Given the description of an element on the screen output the (x, y) to click on. 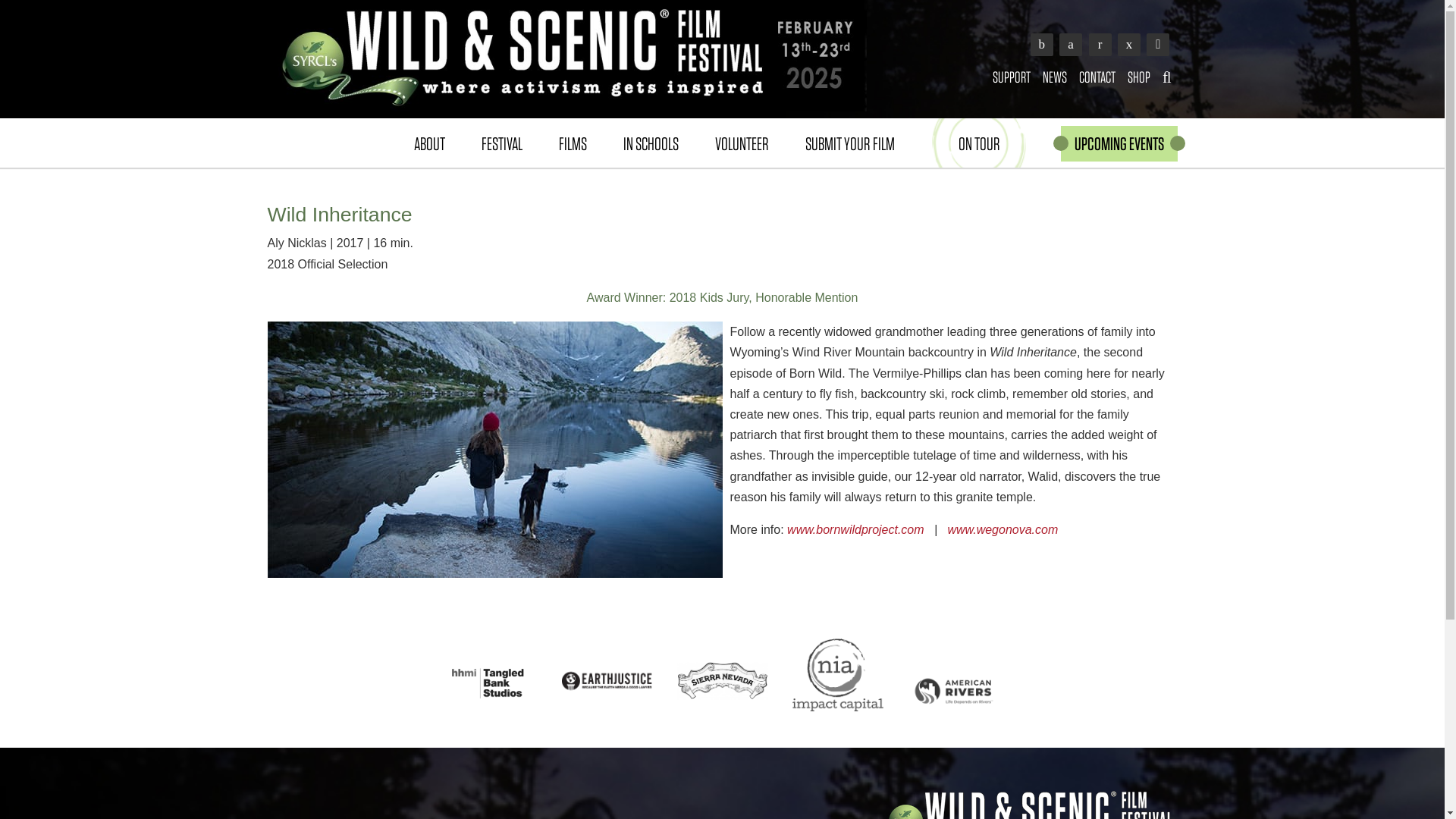
www.bornwildproject.com (854, 529)
www.wegonova.com (1002, 529)
SUBMIT YOUR FILM (849, 142)
NEWS (1054, 76)
FESTIVAL (501, 142)
SHOP (1138, 76)
FILMS (572, 142)
VOLUNTEER (740, 142)
ABOUT (429, 142)
ON TOUR (979, 142)
UPCOMING EVENTS (1117, 143)
CONTACT (1097, 76)
SUPPORT (1011, 76)
IN SCHOOLS (651, 142)
